Given the description of an element on the screen output the (x, y) to click on. 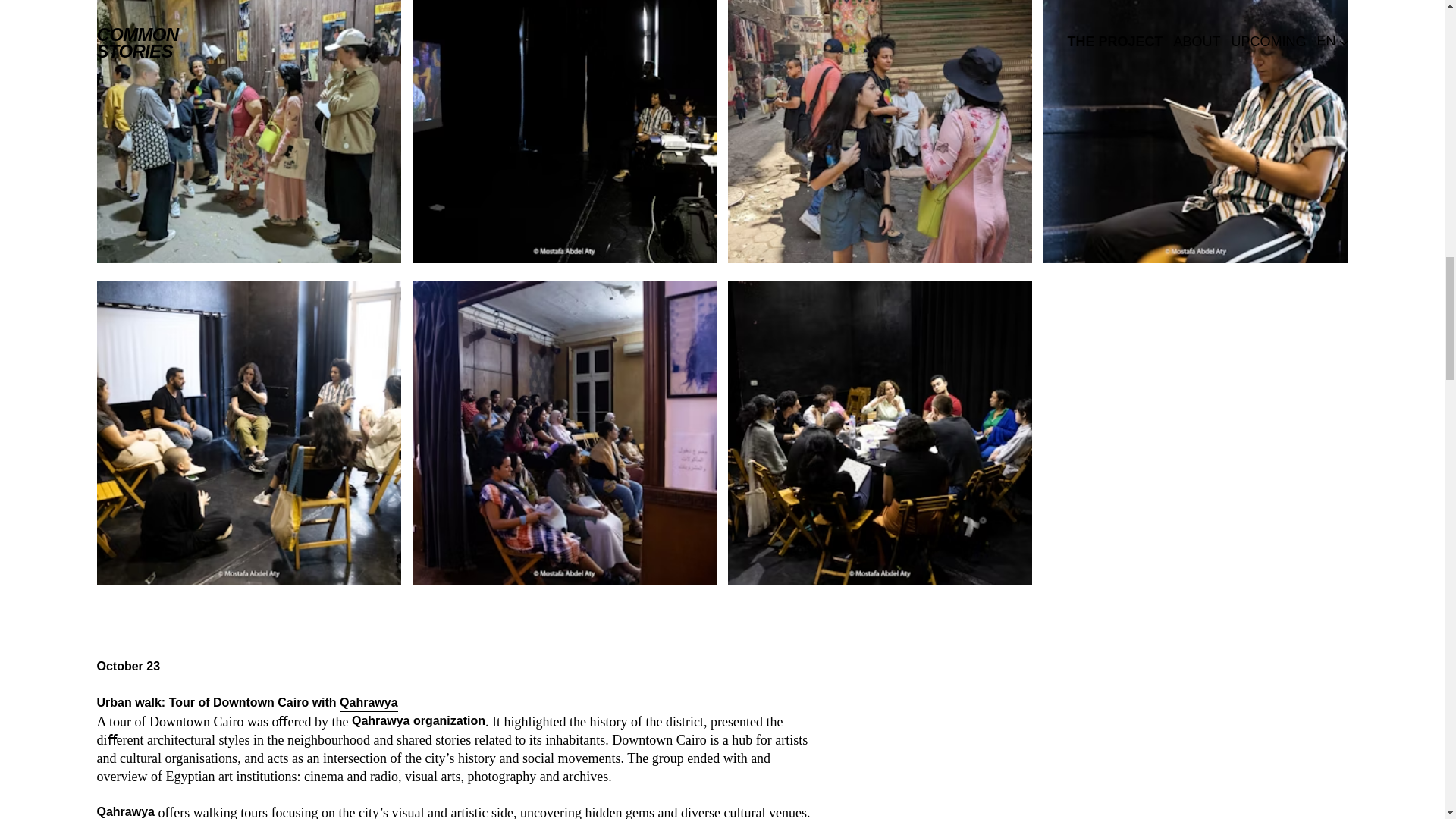
Qahrawya (368, 703)
